Given the description of an element on the screen output the (x, y) to click on. 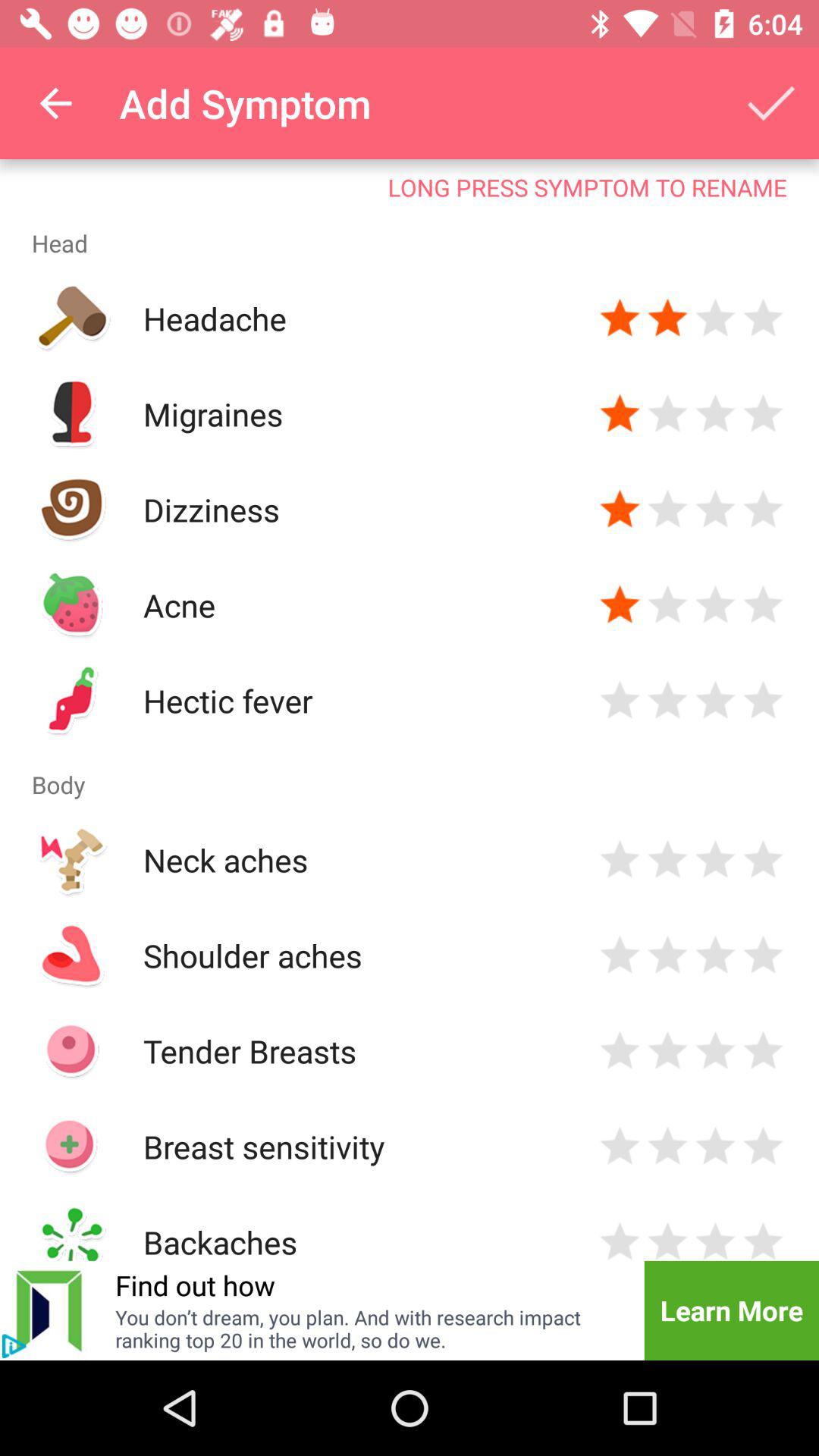
three star rating (715, 318)
